Given the description of an element on the screen output the (x, y) to click on. 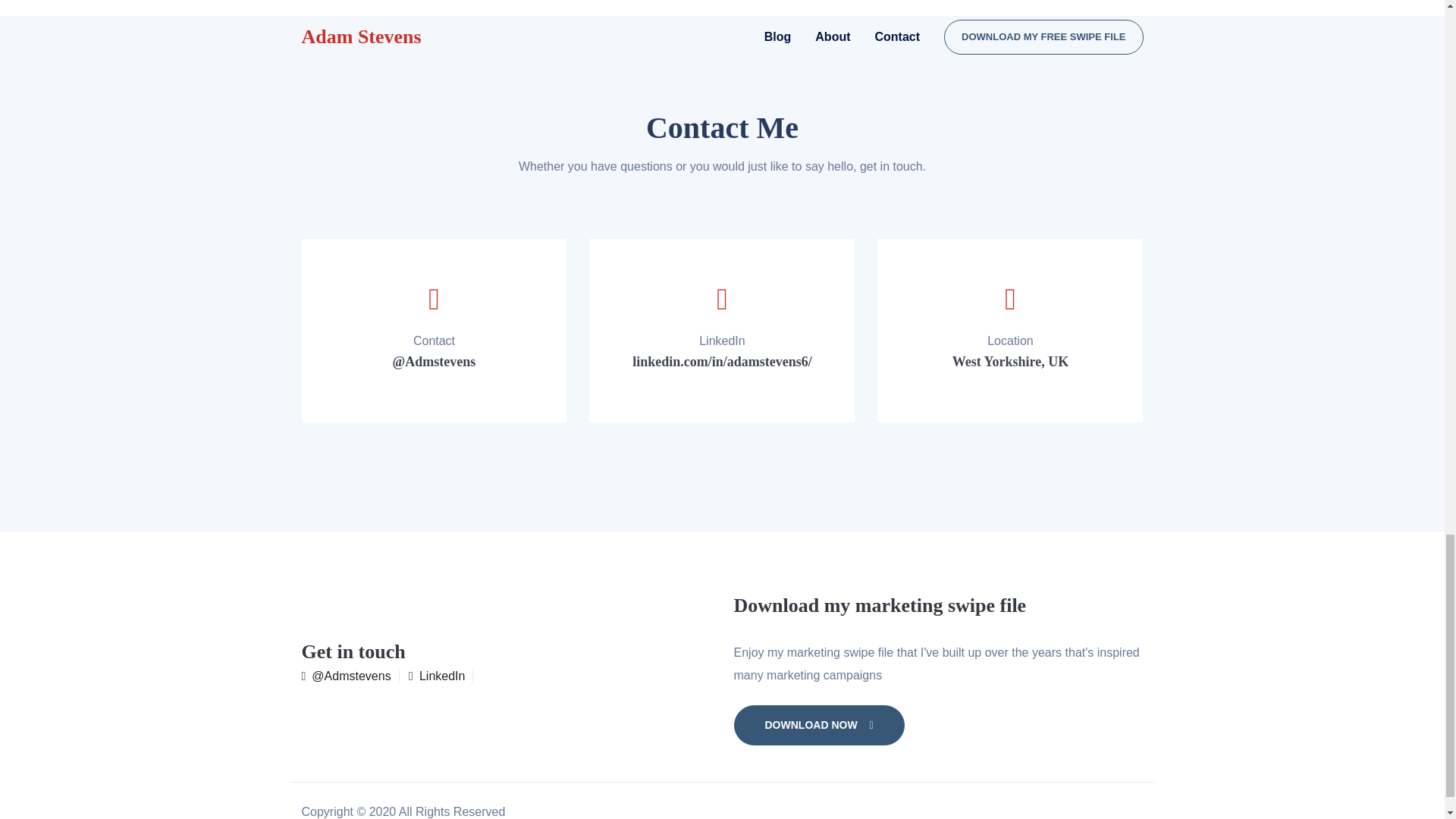
DOWNLOAD NOW (818, 725)
LinkedIn (441, 675)
